Given the description of an element on the screen output the (x, y) to click on. 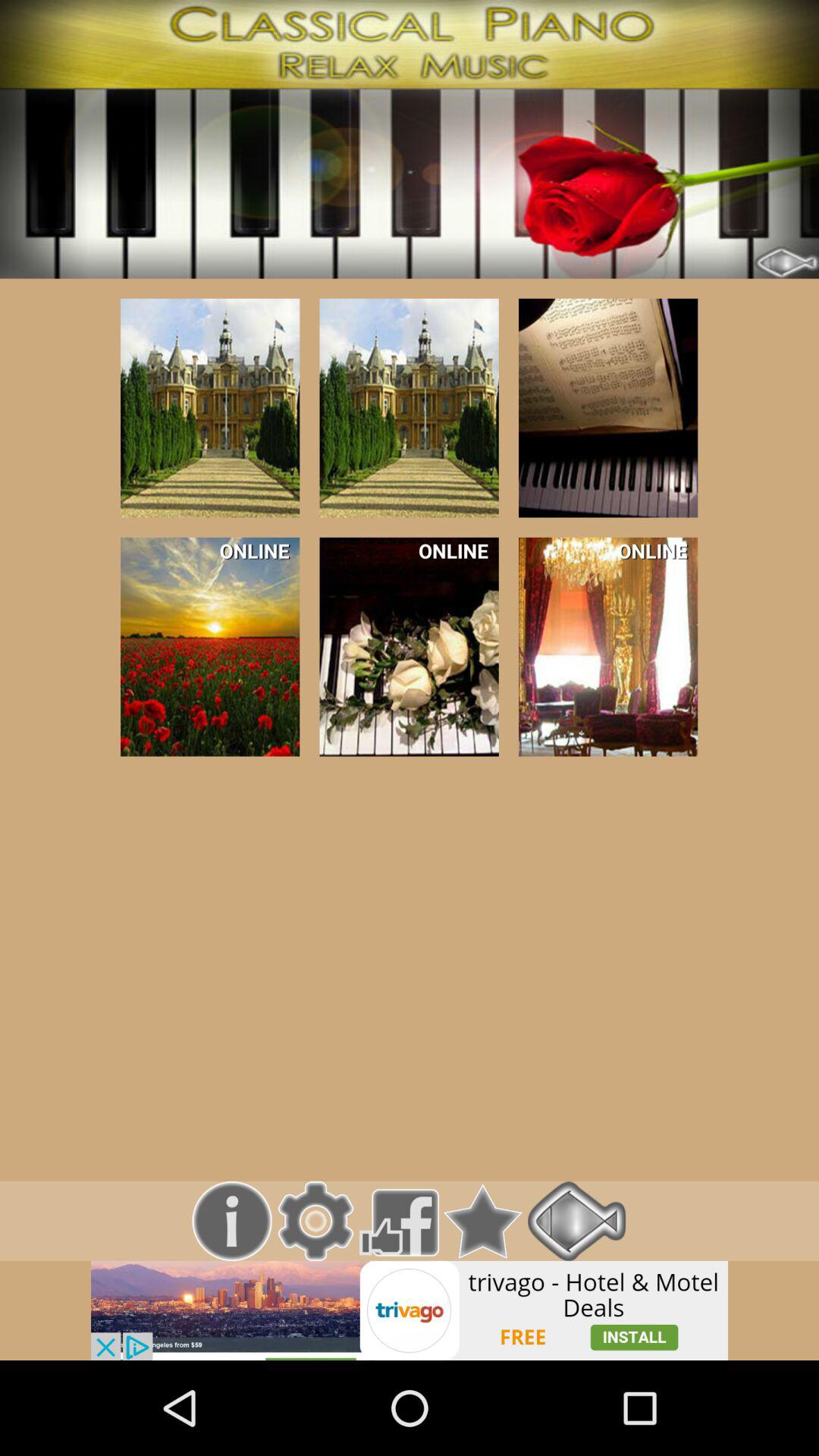
bookmark option (482, 1220)
